Given the description of an element on the screen output the (x, y) to click on. 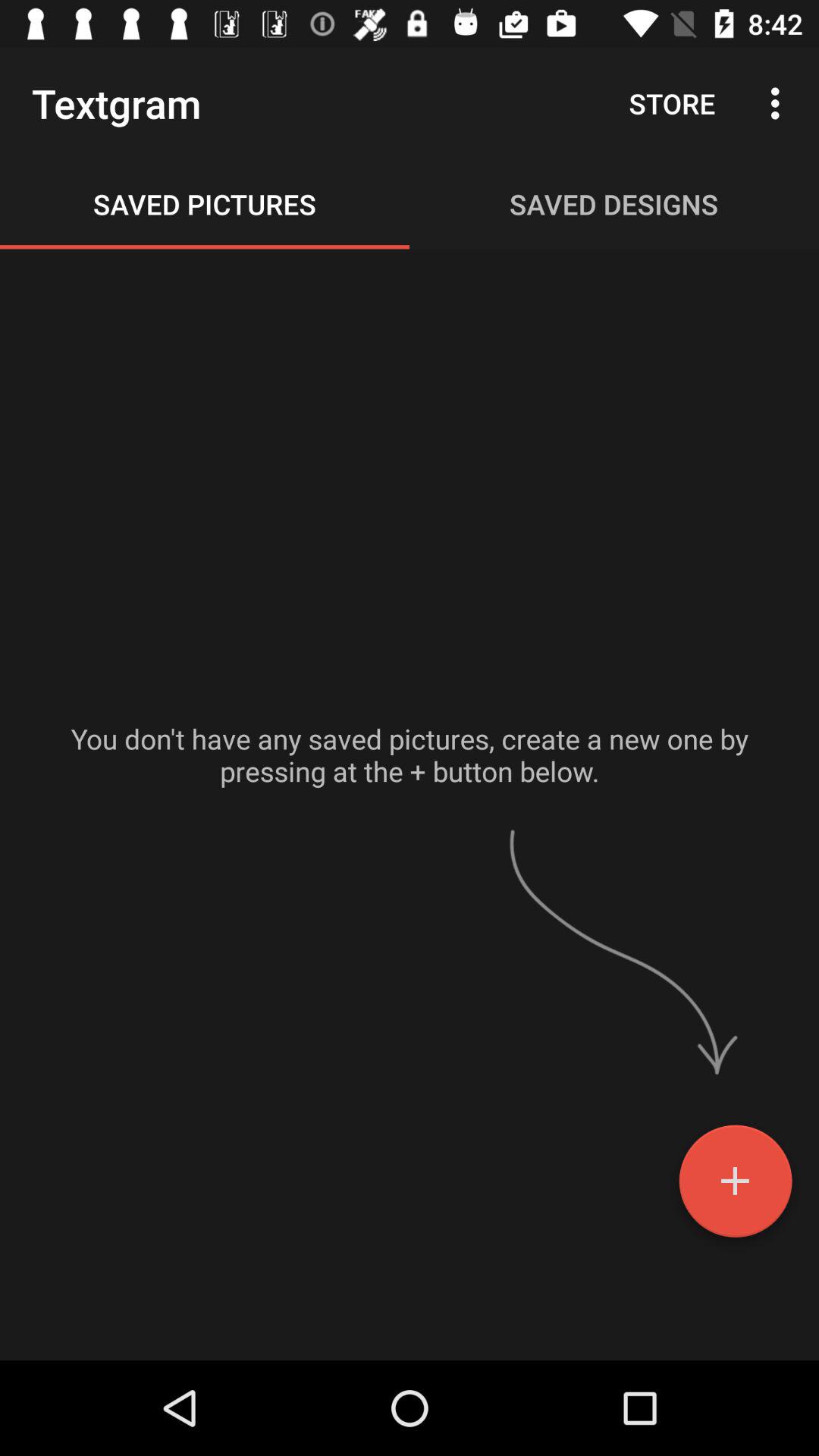
create new picture (735, 1186)
